Given the description of an element on the screen output the (x, y) to click on. 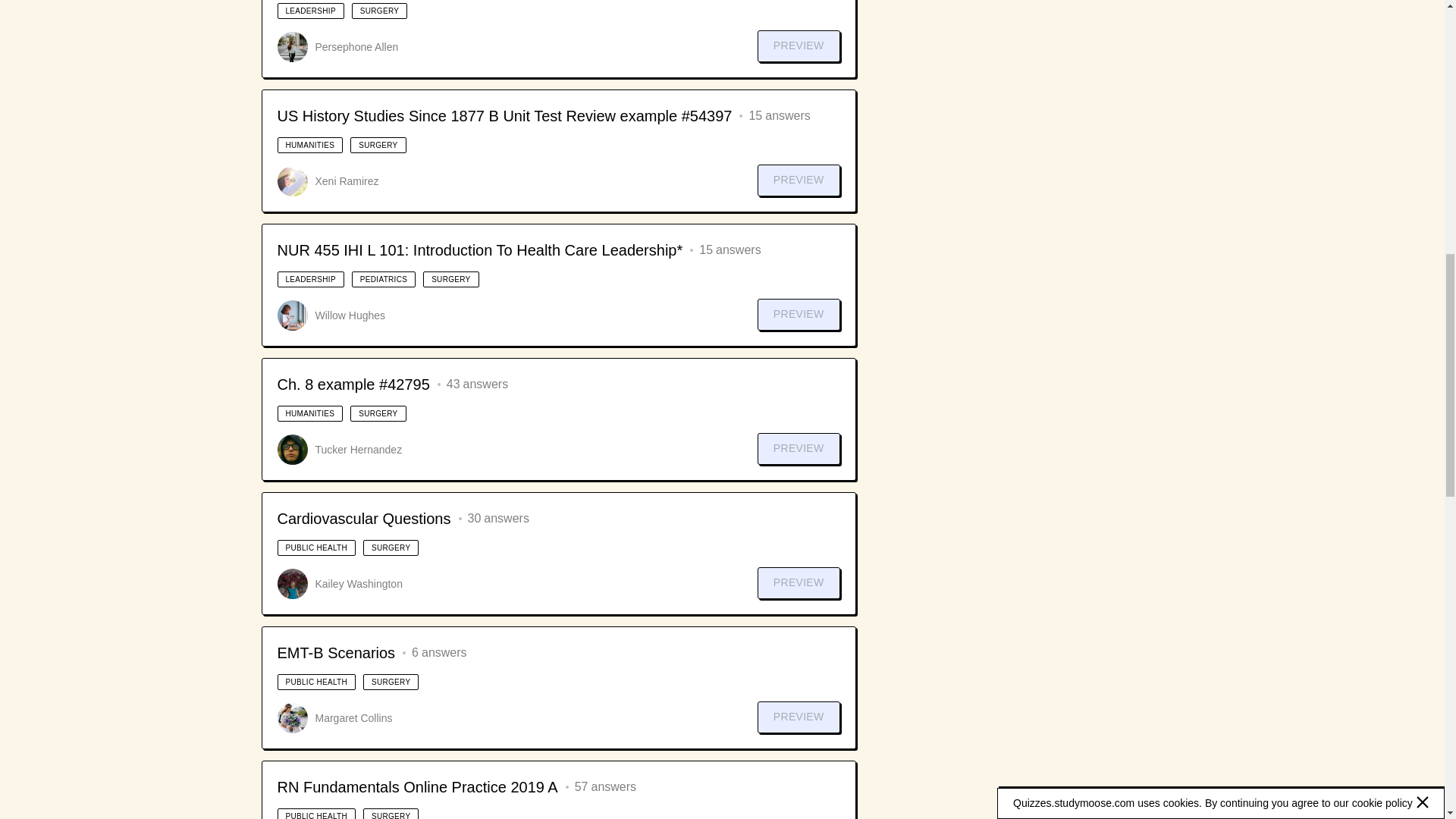
RN Fundamentals Online Practice 2019 A (417, 786)
PREVIEW (798, 449)
PREVIEW (798, 46)
PREVIEW (798, 582)
PREVIEW (798, 314)
PREVIEW (798, 180)
Cardiovascular Questions (364, 518)
PREVIEW (798, 717)
EMT-B Scenarios (337, 652)
